Given the description of an element on the screen output the (x, y) to click on. 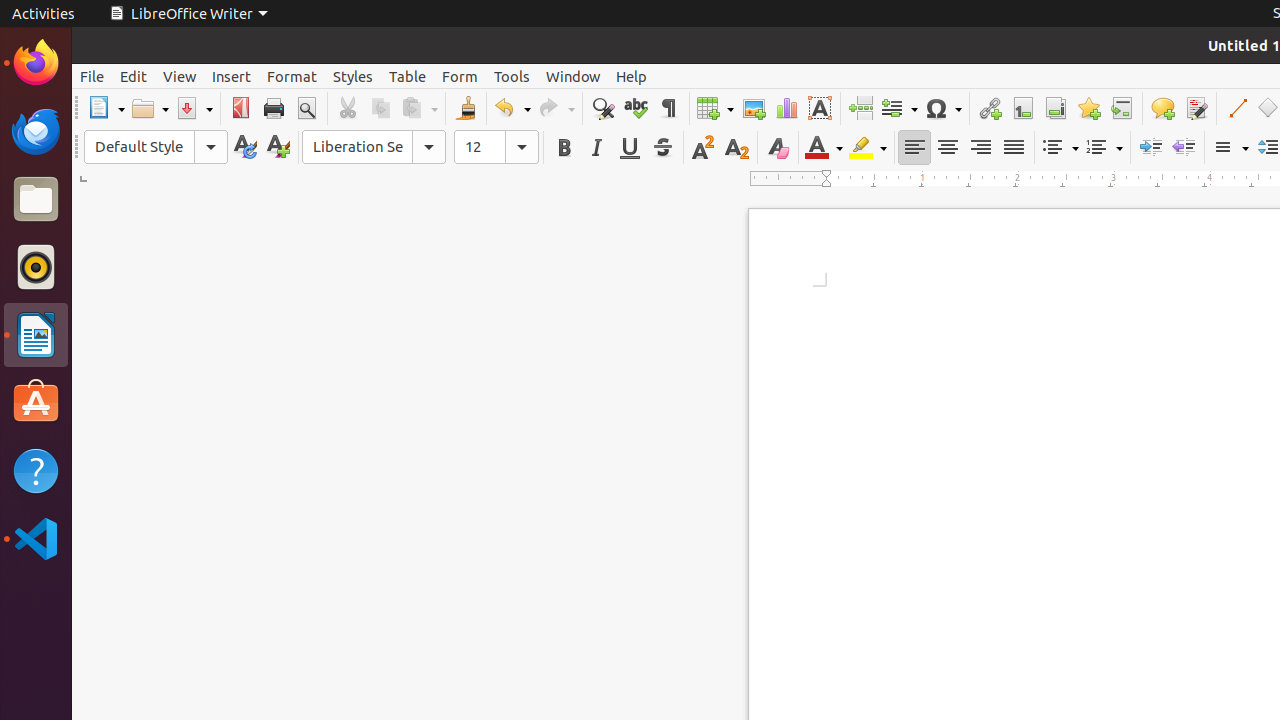
Highlight Color Element type: push-button (868, 147)
File Element type: menu (92, 76)
Files Element type: push-button (36, 199)
Paste Element type: push-button (419, 108)
LibreOffice Writer Element type: push-button (36, 334)
